Given the description of an element on the screen output the (x, y) to click on. 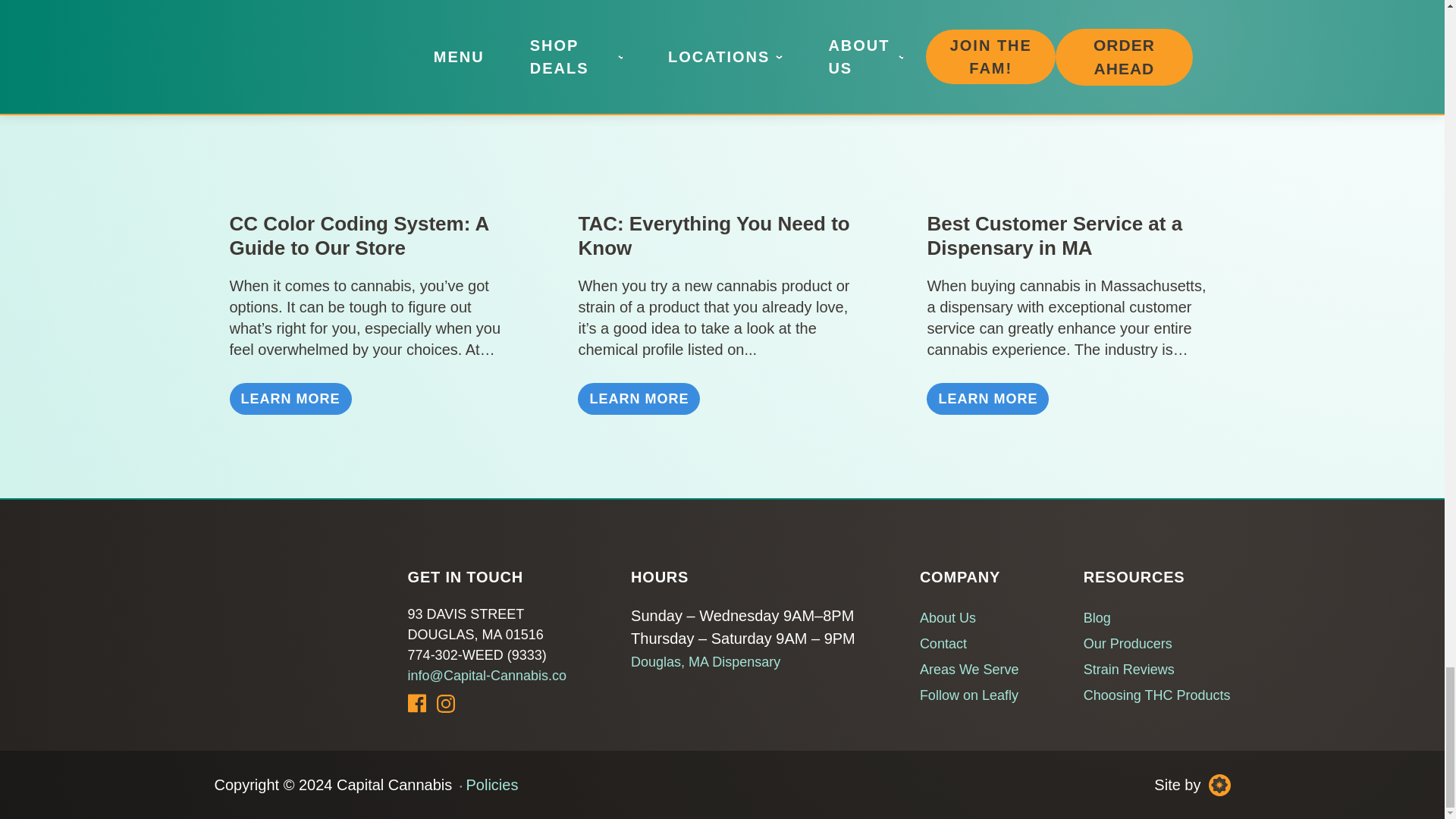
LEARN MORE (289, 399)
Follow us on instagram (445, 703)
Follow us on Facebook (416, 702)
LEARN MORE (987, 399)
LEARN MORE (639, 399)
